Given the description of an element on the screen output the (x, y) to click on. 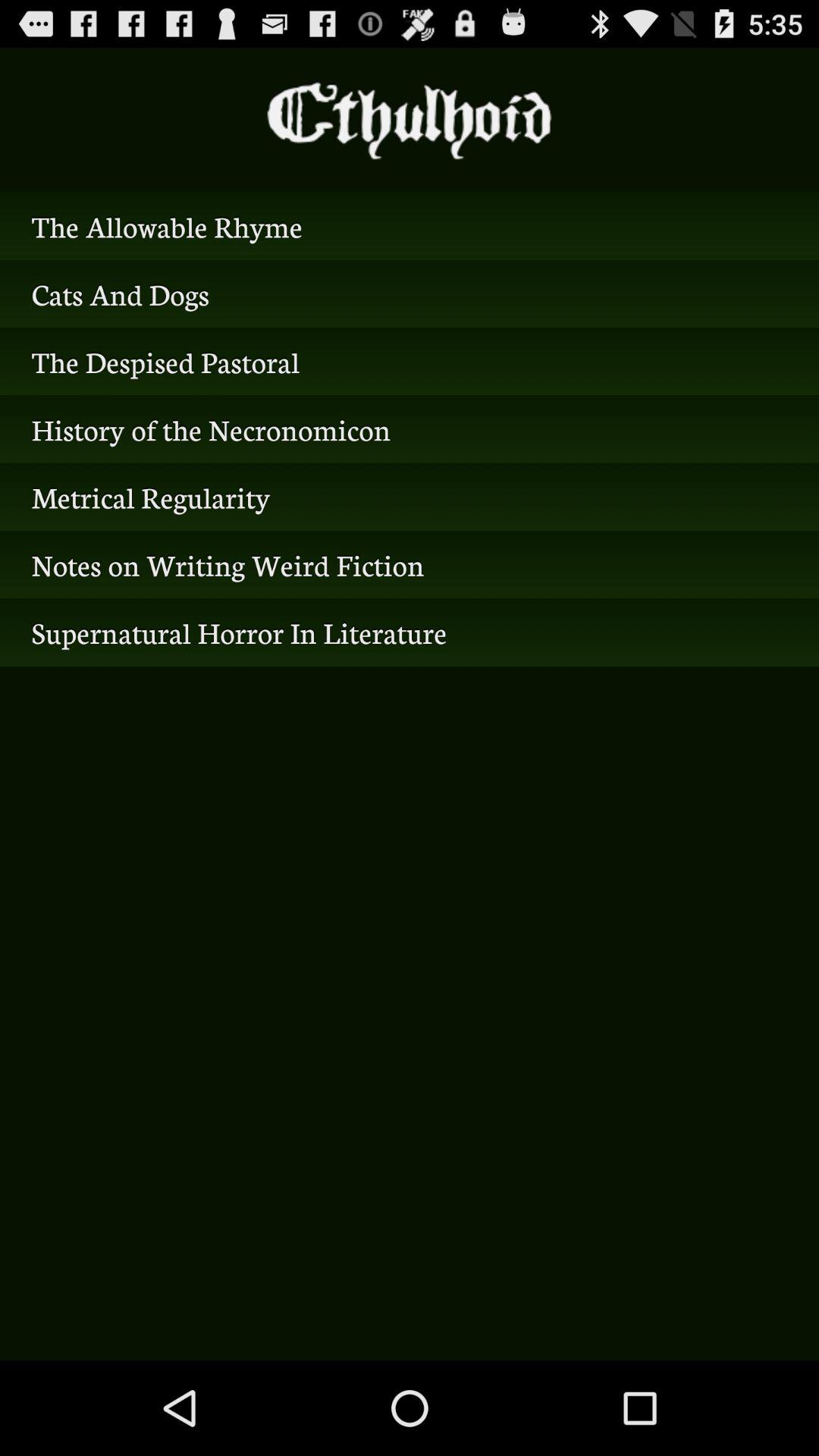
flip until the history of the icon (409, 429)
